Given the description of an element on the screen output the (x, y) to click on. 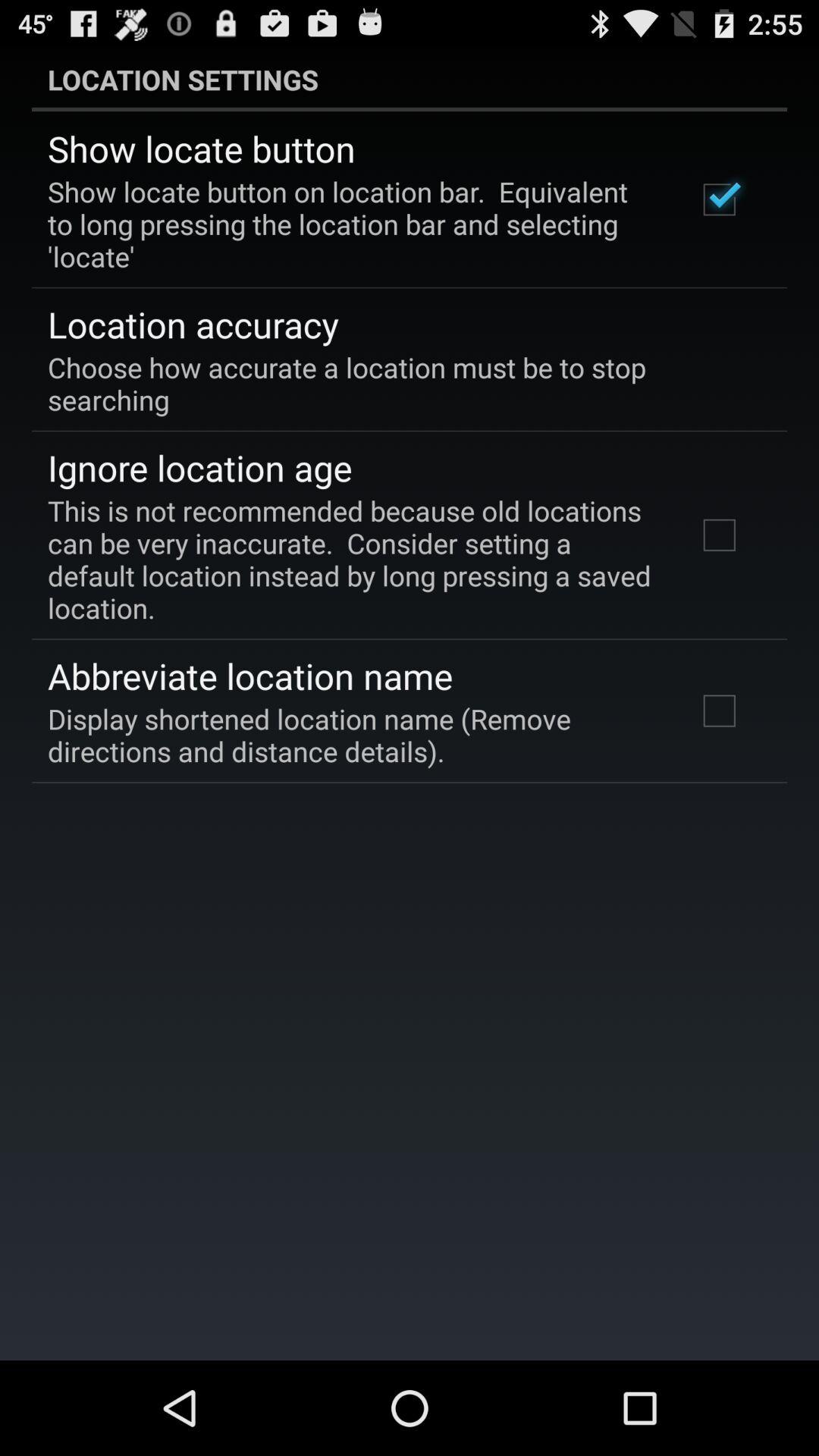
scroll to this is not item (351, 558)
